Given the description of an element on the screen output the (x, y) to click on. 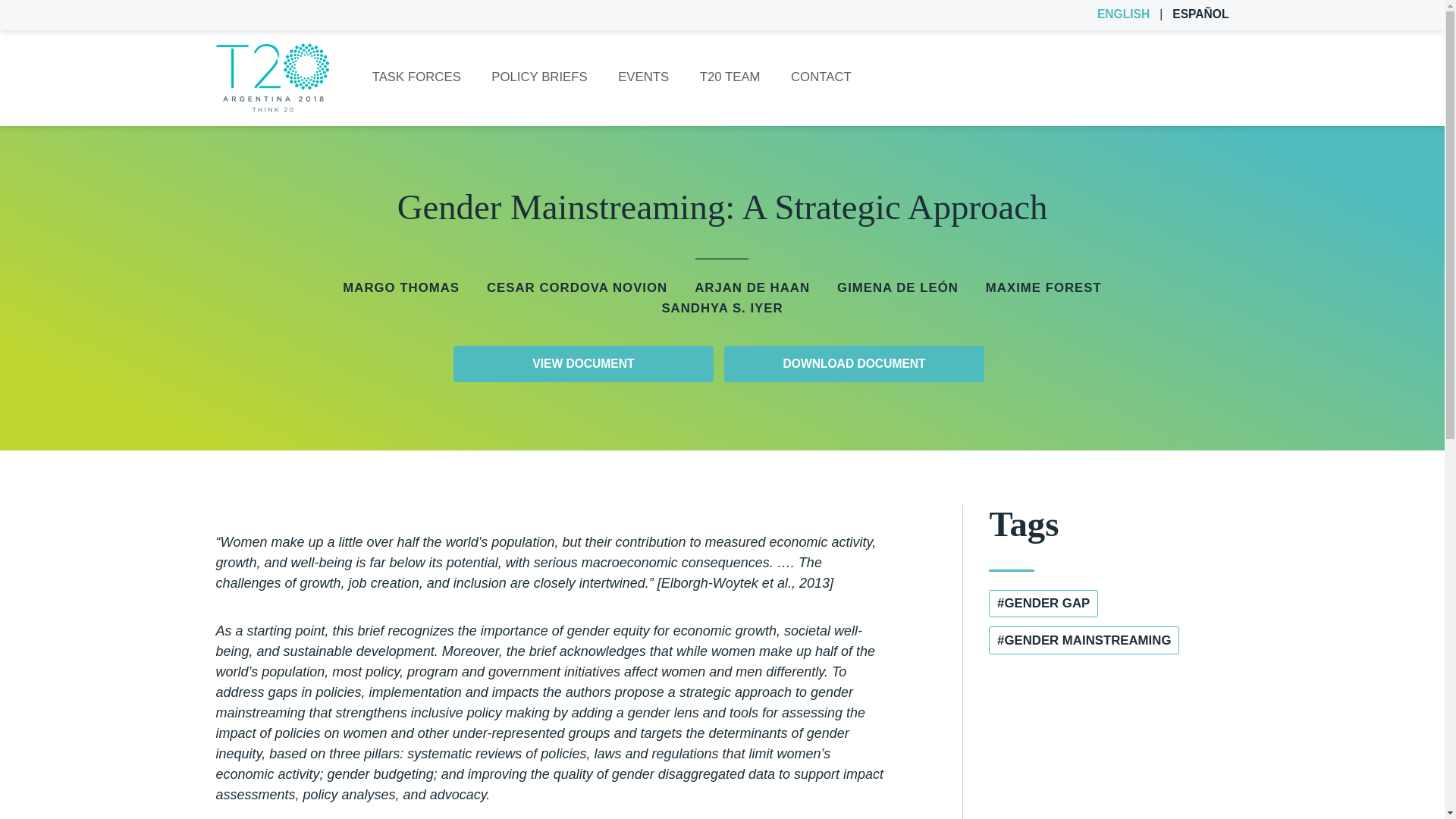
TASK FORCES (416, 77)
SANDHYA S. IYER (722, 307)
VIEW DOCUMENT (582, 364)
ARJAN DE HAAN (751, 287)
MARGO THOMAS (401, 287)
EVENTS (643, 77)
CESAR CORDOVA NOVION (576, 287)
T20 TEAM (729, 77)
CONTACT (821, 77)
DOWNLOAD DOCUMENT (853, 364)
